Given the description of an element on the screen output the (x, y) to click on. 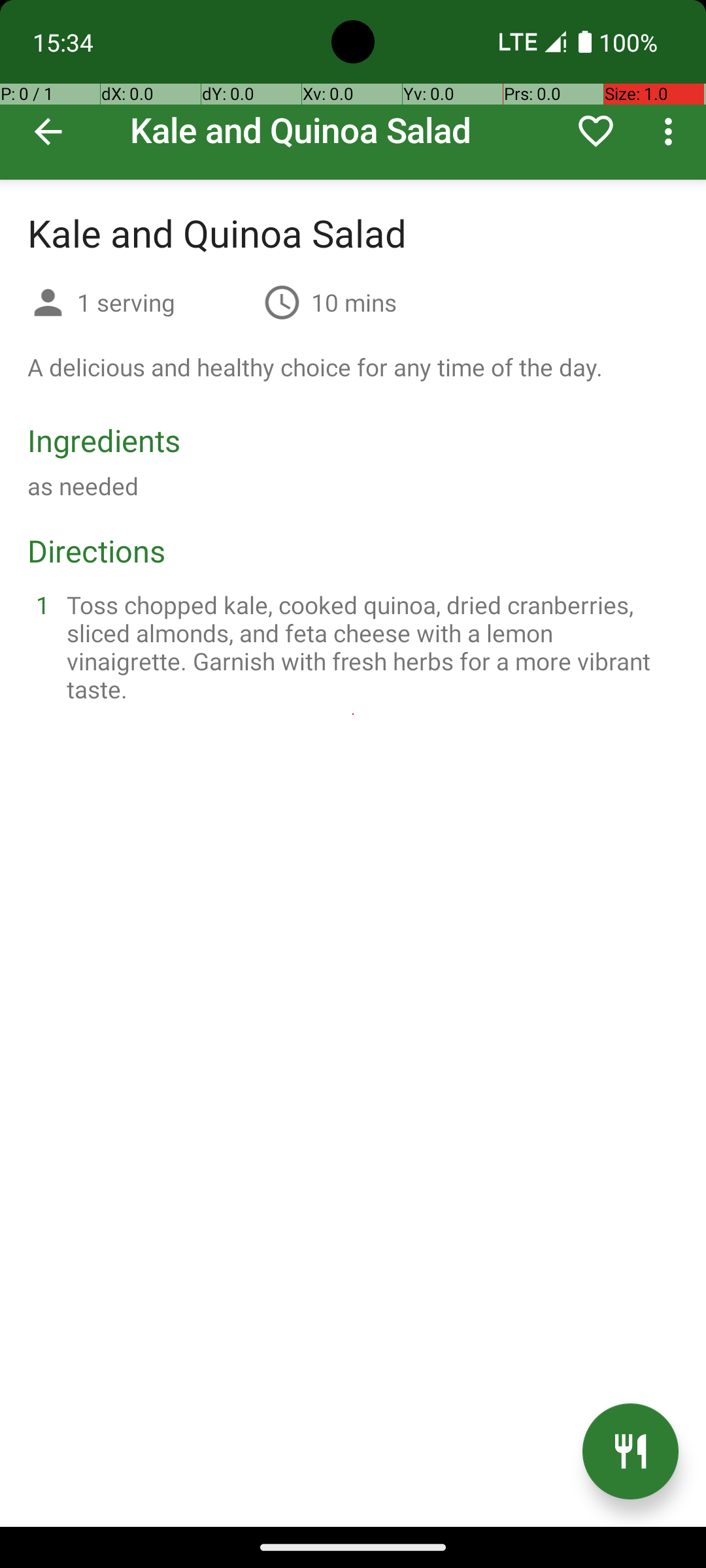
Toss chopped kale, cooked quinoa, dried cranberries, sliced almonds, and feta cheese with a lemon vinaigrette. Garnish with fresh herbs for a more vibrant taste. Element type: android.widget.TextView (368, 646)
